Given the description of an element on the screen output the (x, y) to click on. 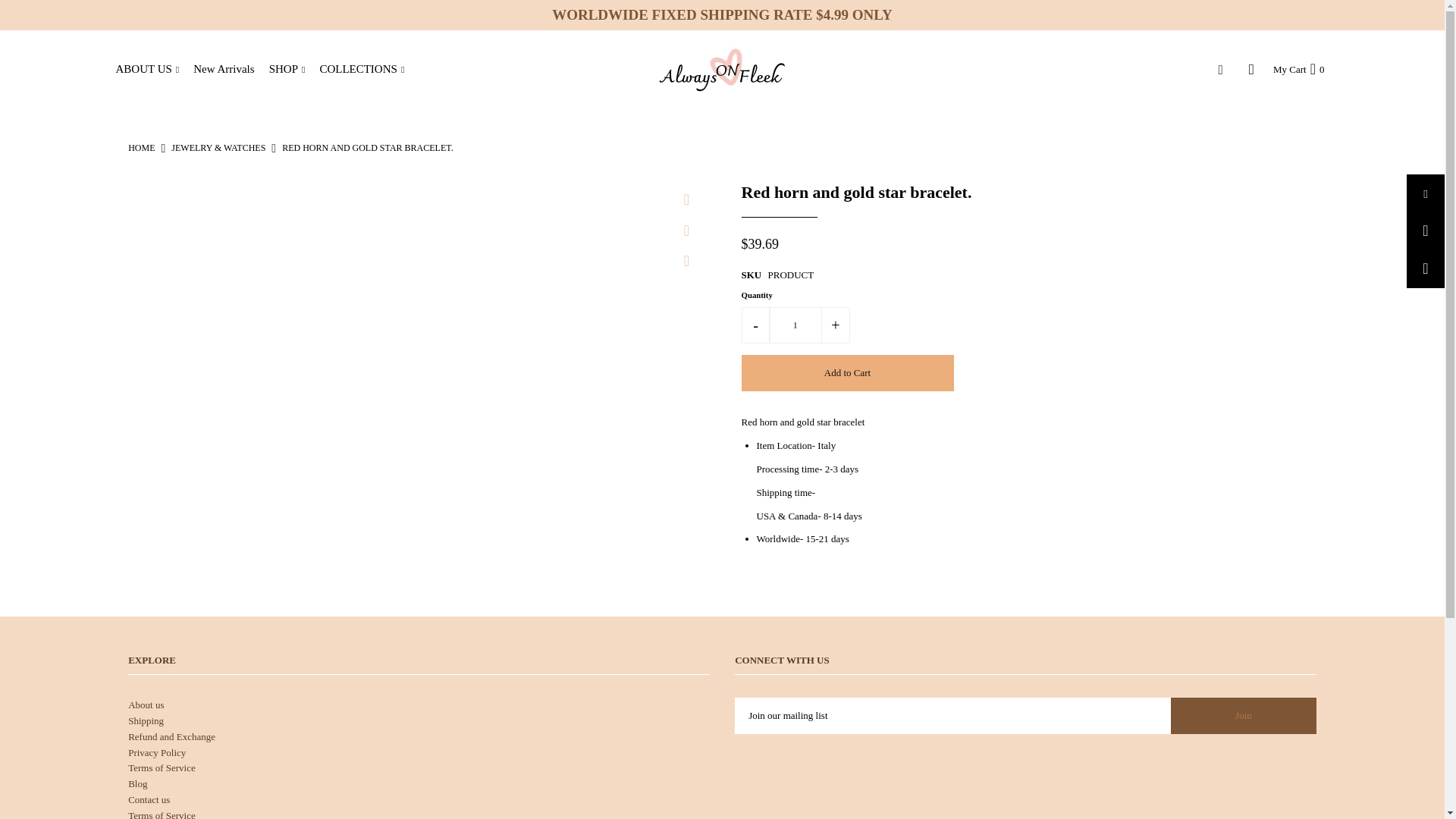
1 (795, 325)
Home (141, 147)
Add to Cart (847, 372)
Join (1243, 715)
